Given the description of an element on the screen output the (x, y) to click on. 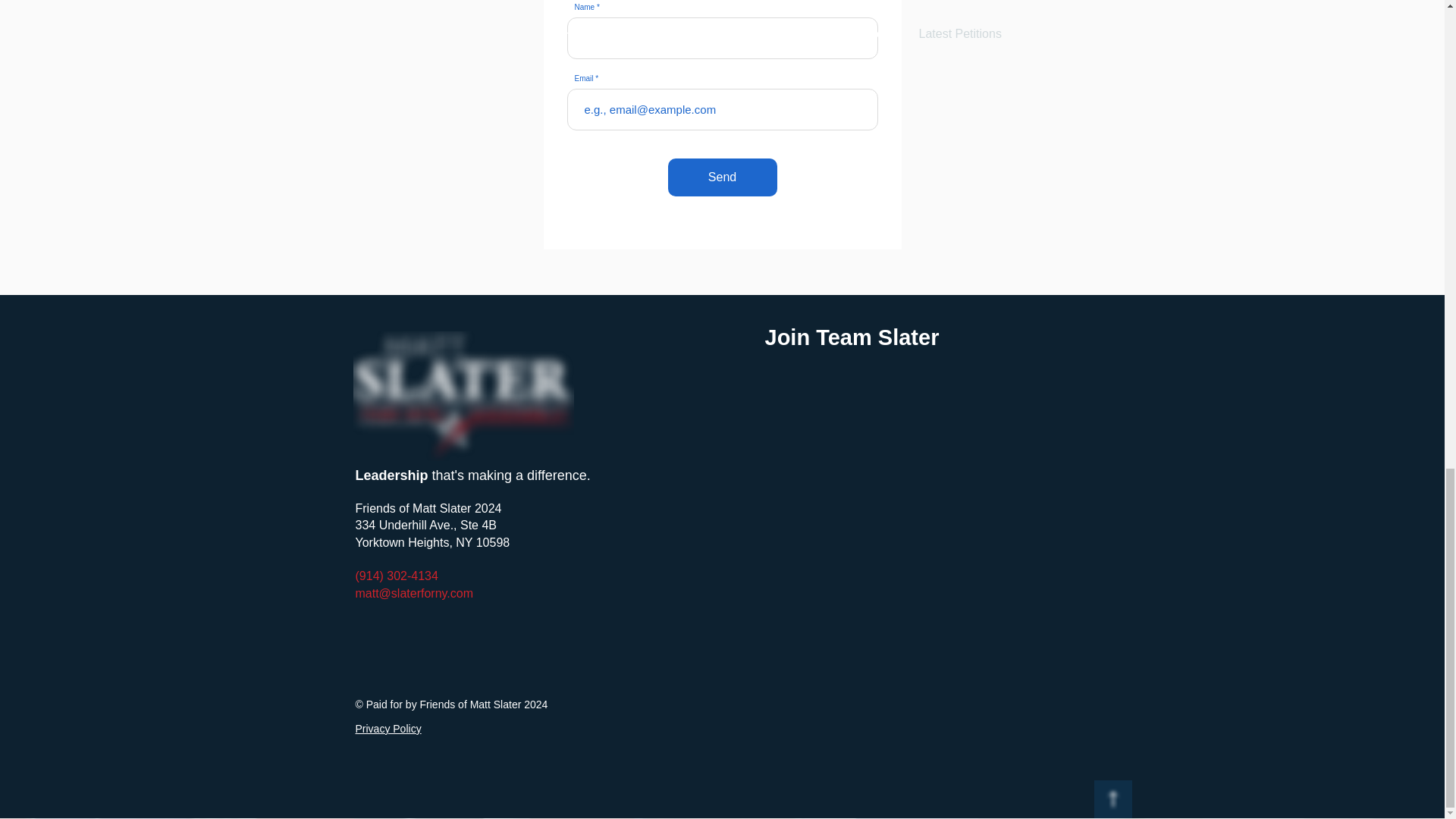
Privacy Policy (387, 728)
Send (721, 177)
